Given the description of an element on the screen output the (x, y) to click on. 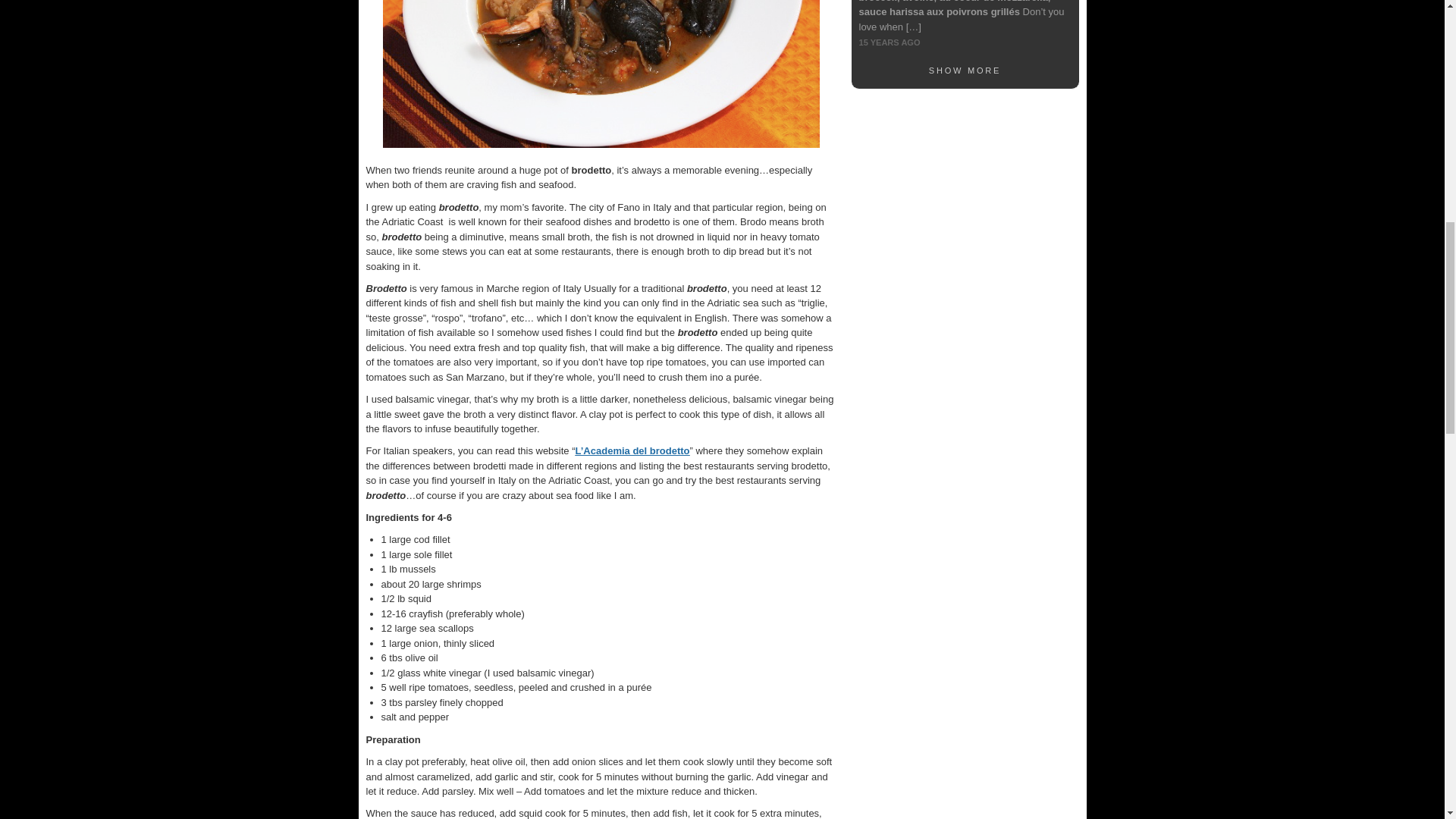
brodetto2web (599, 74)
